Given the description of an element on the screen output the (x, y) to click on. 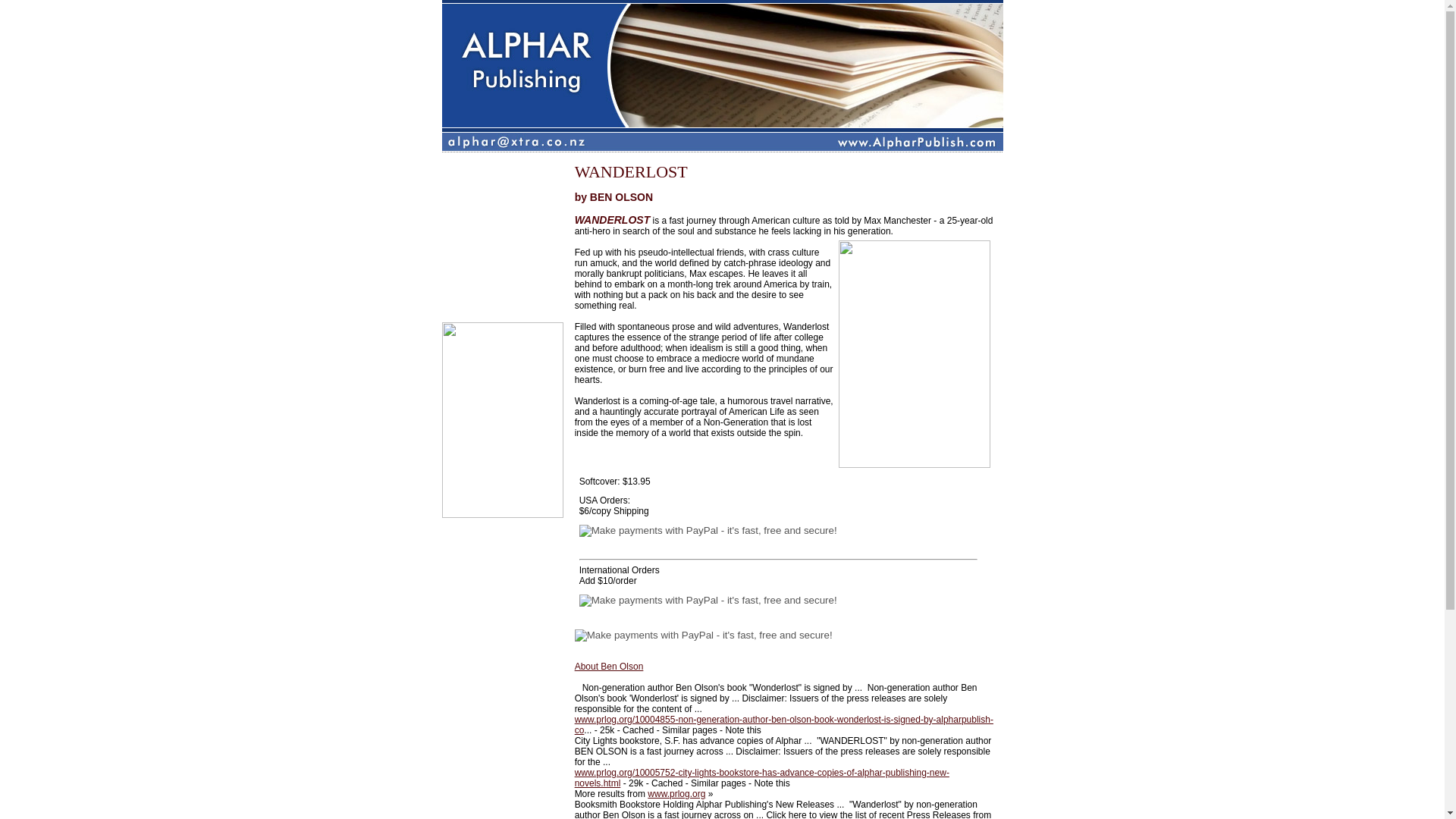
Dear Reader: (502, 162)
Order your Book (502, 255)
Contact (502, 312)
Blogsite content (502, 236)
About Ben Olson (609, 665)
ALPHAR RANCH (502, 274)
Book Index (502, 293)
www.prlog.org (675, 793)
Dr. THOMAS MOORE: Hillary, Upland Road, The Progress of Man (502, 198)
